Given the description of an element on the screen output the (x, y) to click on. 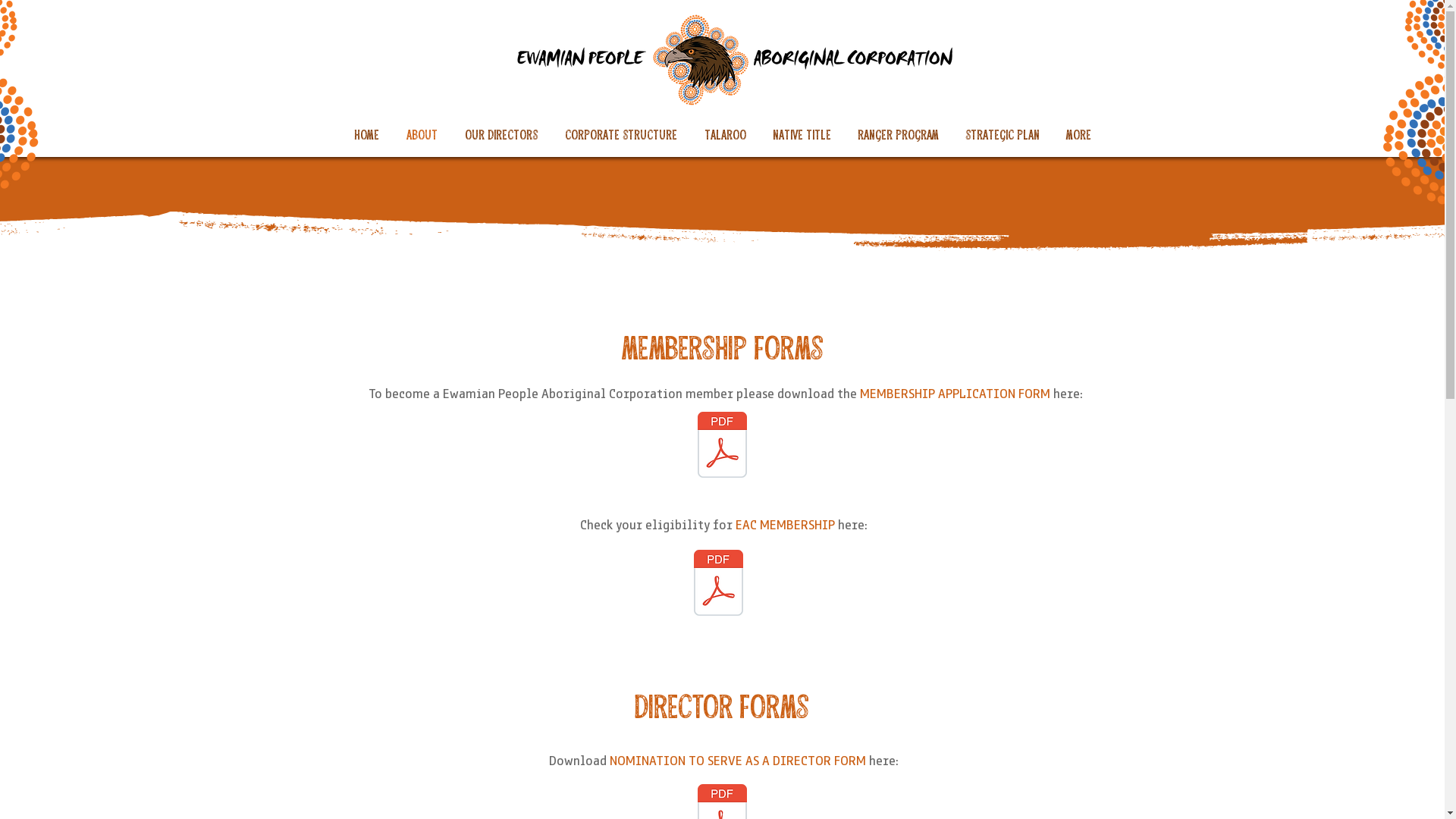
OUR DIRECTORS Element type: text (500, 133)
HOME Element type: text (365, 133)
CORPORATE STRUCTURE Element type: text (620, 133)
NATIVE TITLE Element type: text (801, 133)
Membership of the corporation.pdf Element type: hover (718, 584)
20211212 Website Application for Membership .pdf Element type: hover (721, 446)
ABOUT Element type: text (421, 133)
TALAROO Element type: text (724, 133)
STRATEGIC PLAN Element type: text (1002, 133)
RANGER PROGRAM Element type: text (898, 133)
